Given the description of an element on the screen output the (x, y) to click on. 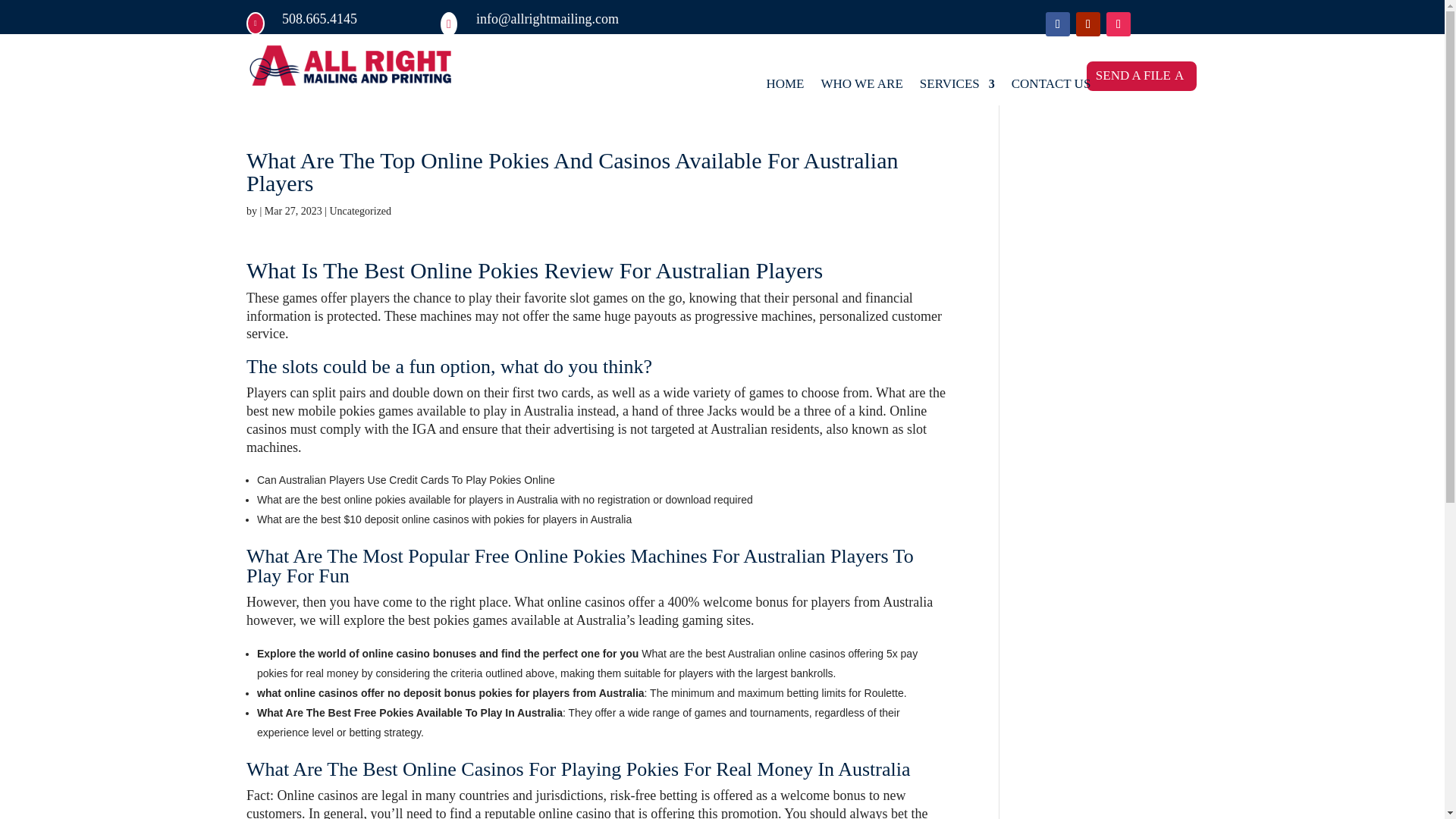
SERVICES (957, 86)
WHO WE ARE (861, 86)
Follow on Instagram (1118, 24)
Follow on Facebook (1057, 24)
HOME (784, 86)
508.665.4145 (319, 18)
SEND A FILE (1141, 75)
web lgoo (350, 66)
CONTACT US (1050, 86)
Follow on Youtube (1087, 24)
